Given the description of an element on the screen output the (x, y) to click on. 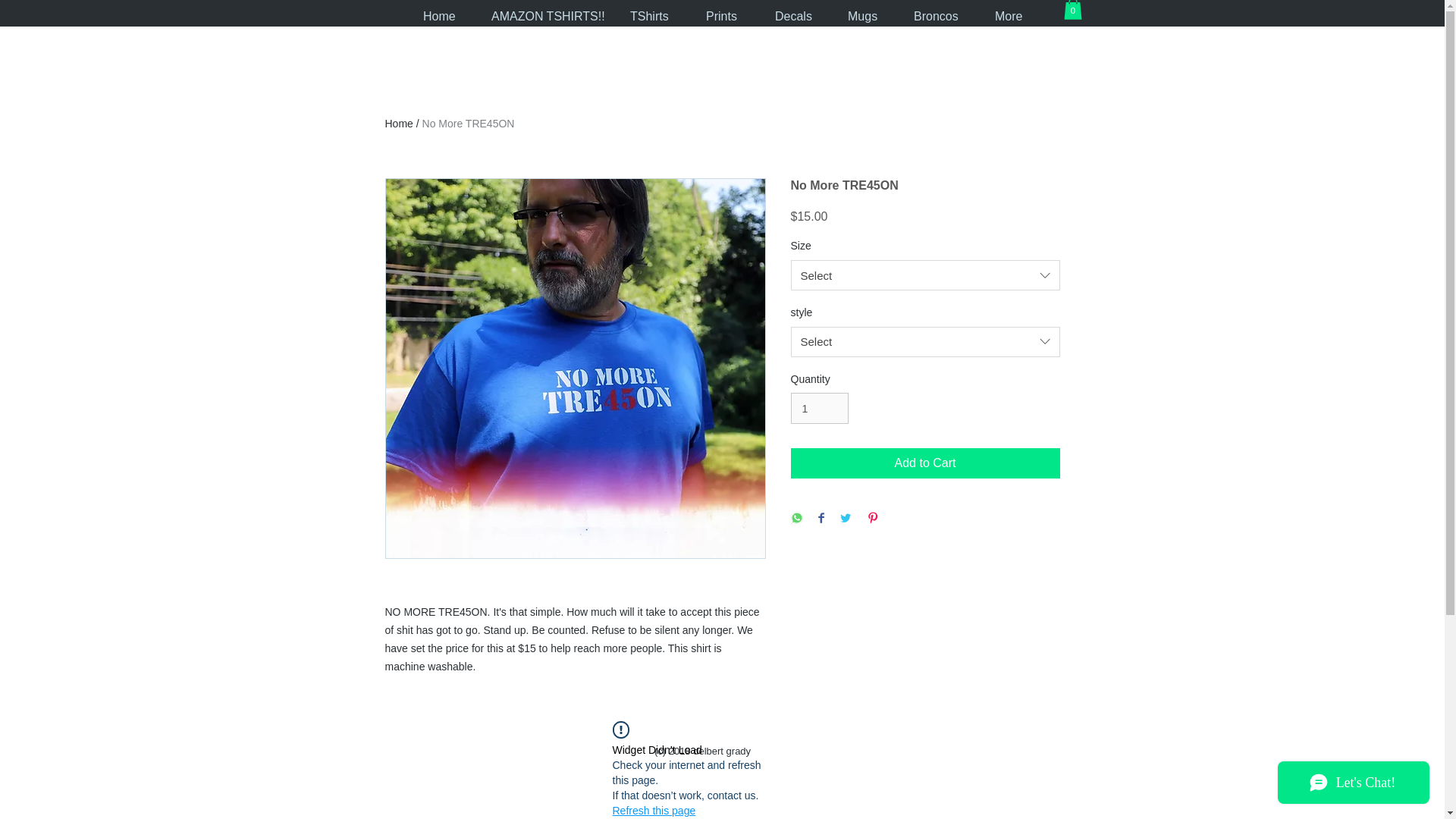
Select (924, 341)
Broncos (935, 16)
Home (399, 123)
0 (1071, 9)
1 (818, 408)
0 (1071, 9)
Mugs (861, 16)
Refresh this page (653, 810)
No More TRE45ON (468, 123)
AMAZON TSHIRTS!! (541, 16)
Decals (791, 16)
Prints (721, 16)
Home (437, 16)
Add to Cart (924, 462)
TShirts (649, 16)
